Given the description of an element on the screen output the (x, y) to click on. 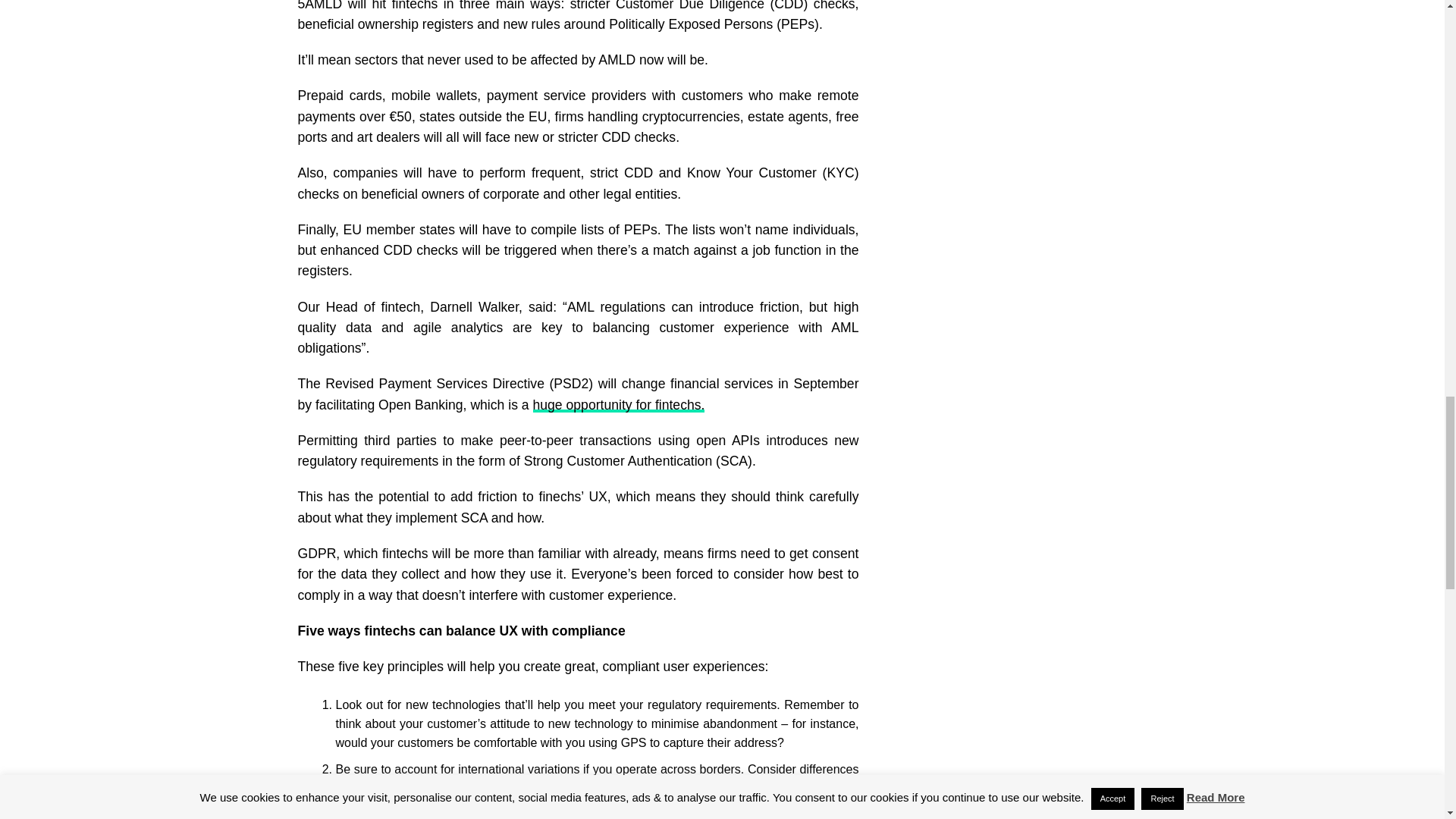
huge opportunity for fintechs. (618, 404)
